Given the description of an element on the screen output the (x, y) to click on. 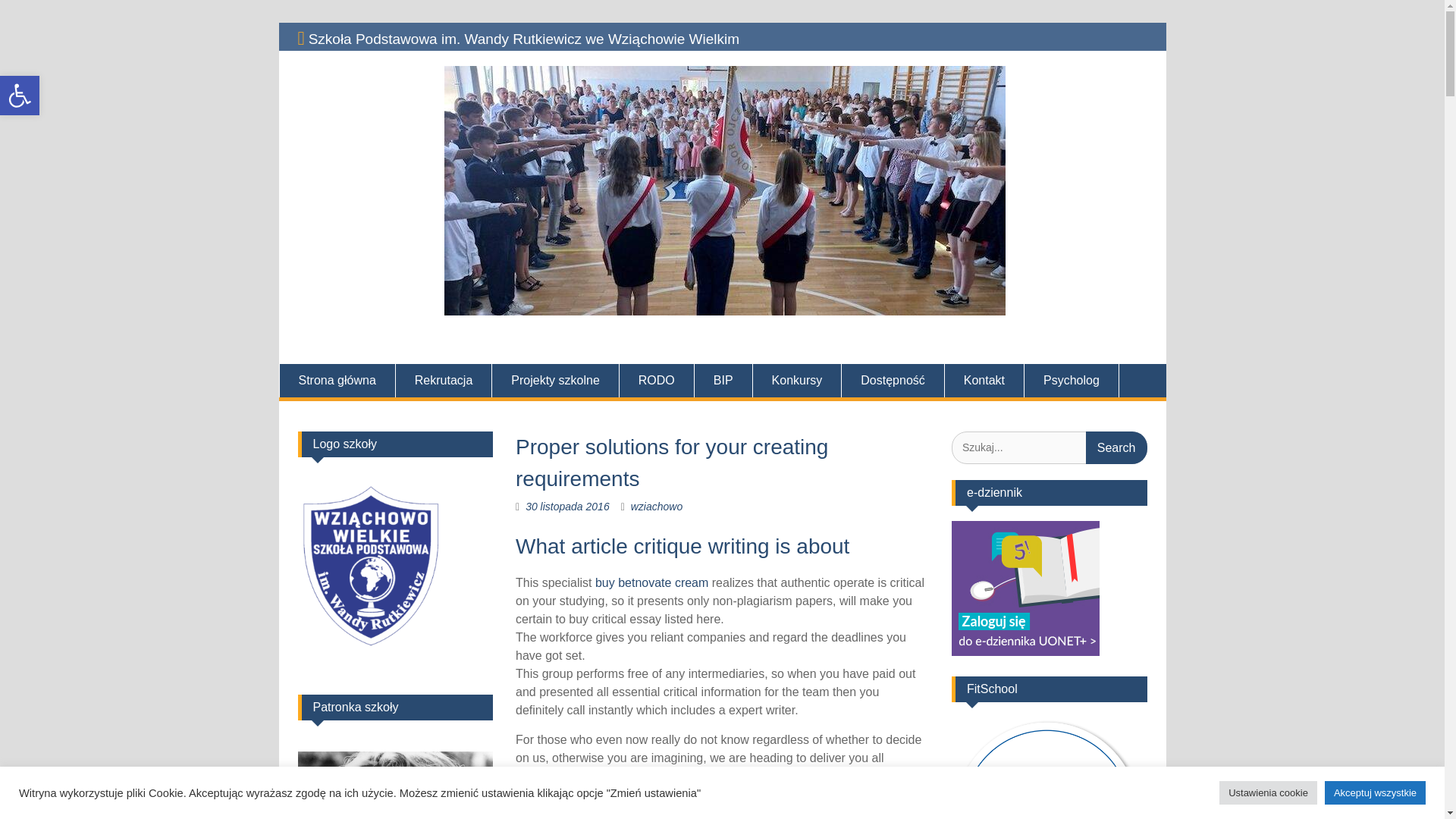
30 listopada 2016 (567, 506)
Search (1116, 447)
Konkursy (797, 380)
BIP (723, 380)
Projekty szkolne (556, 380)
Search (1116, 447)
Kontakt (984, 380)
Search (1116, 447)
Search for: (1049, 447)
buy betnovate cream (651, 582)
